Given the description of an element on the screen output the (x, y) to click on. 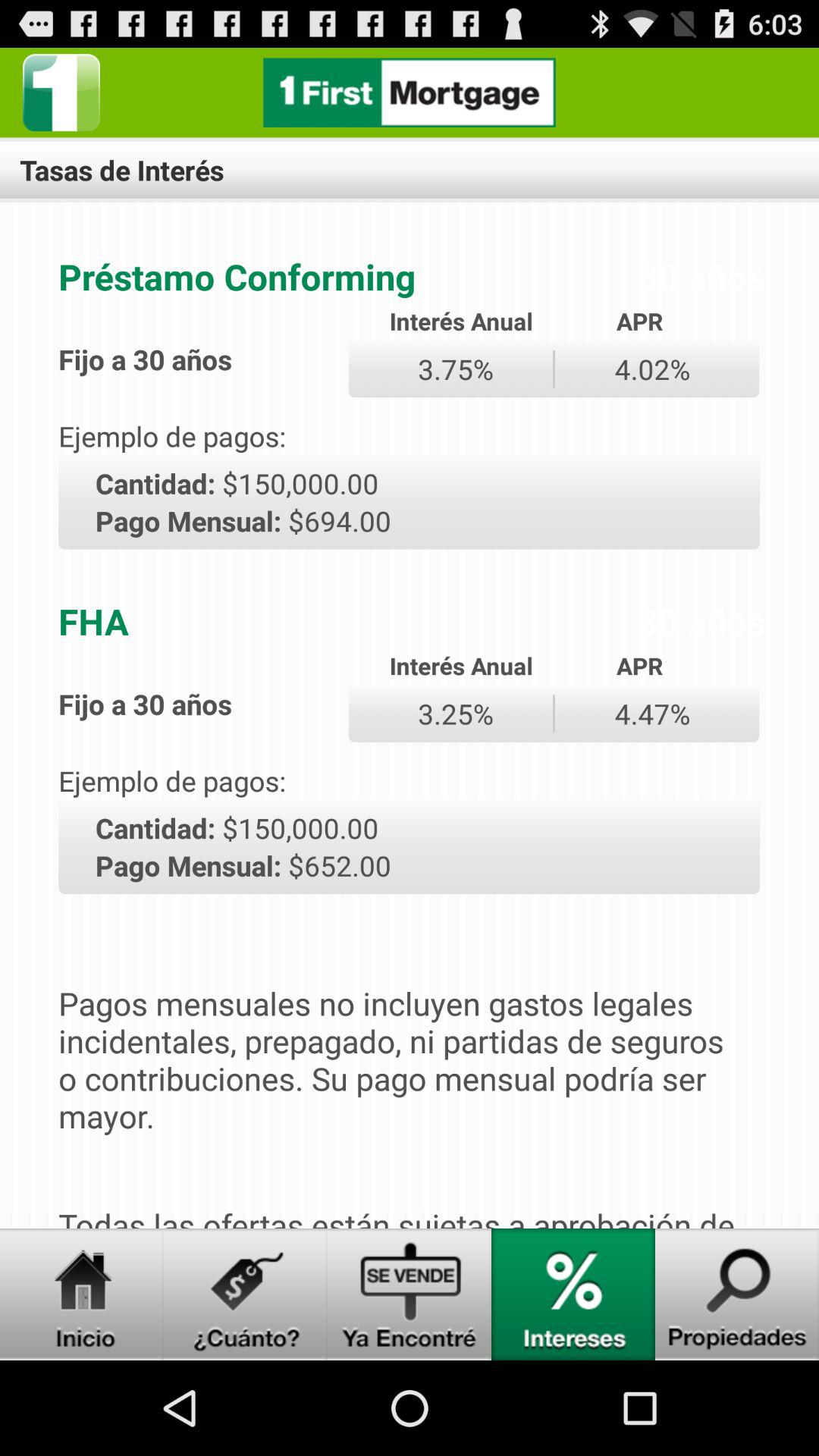
go to search (737, 1294)
